Given the description of an element on the screen output the (x, y) to click on. 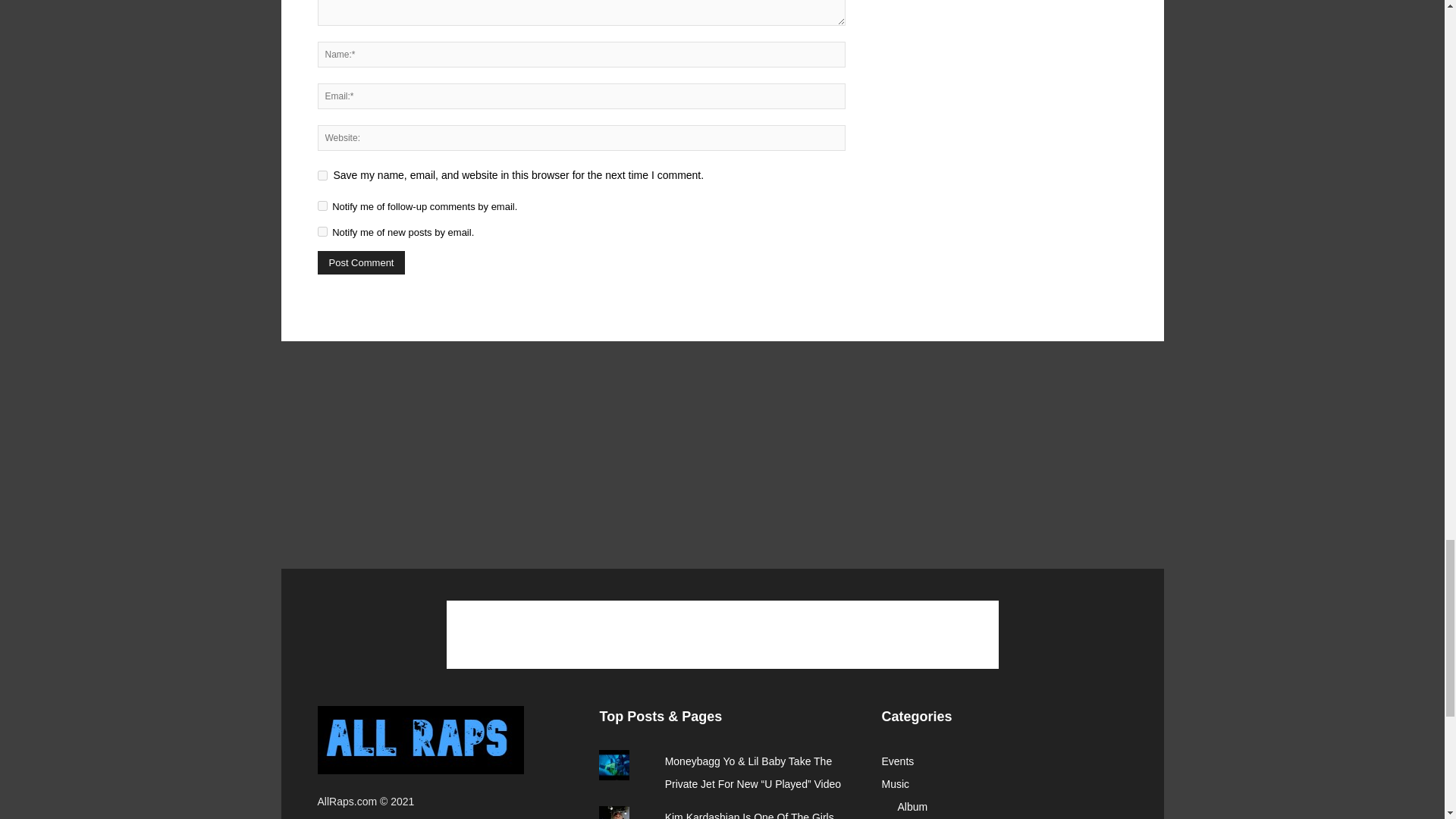
subscribe (321, 231)
subscribe (321, 205)
Post Comment (360, 262)
yes (321, 175)
